Given the description of an element on the screen output the (x, y) to click on. 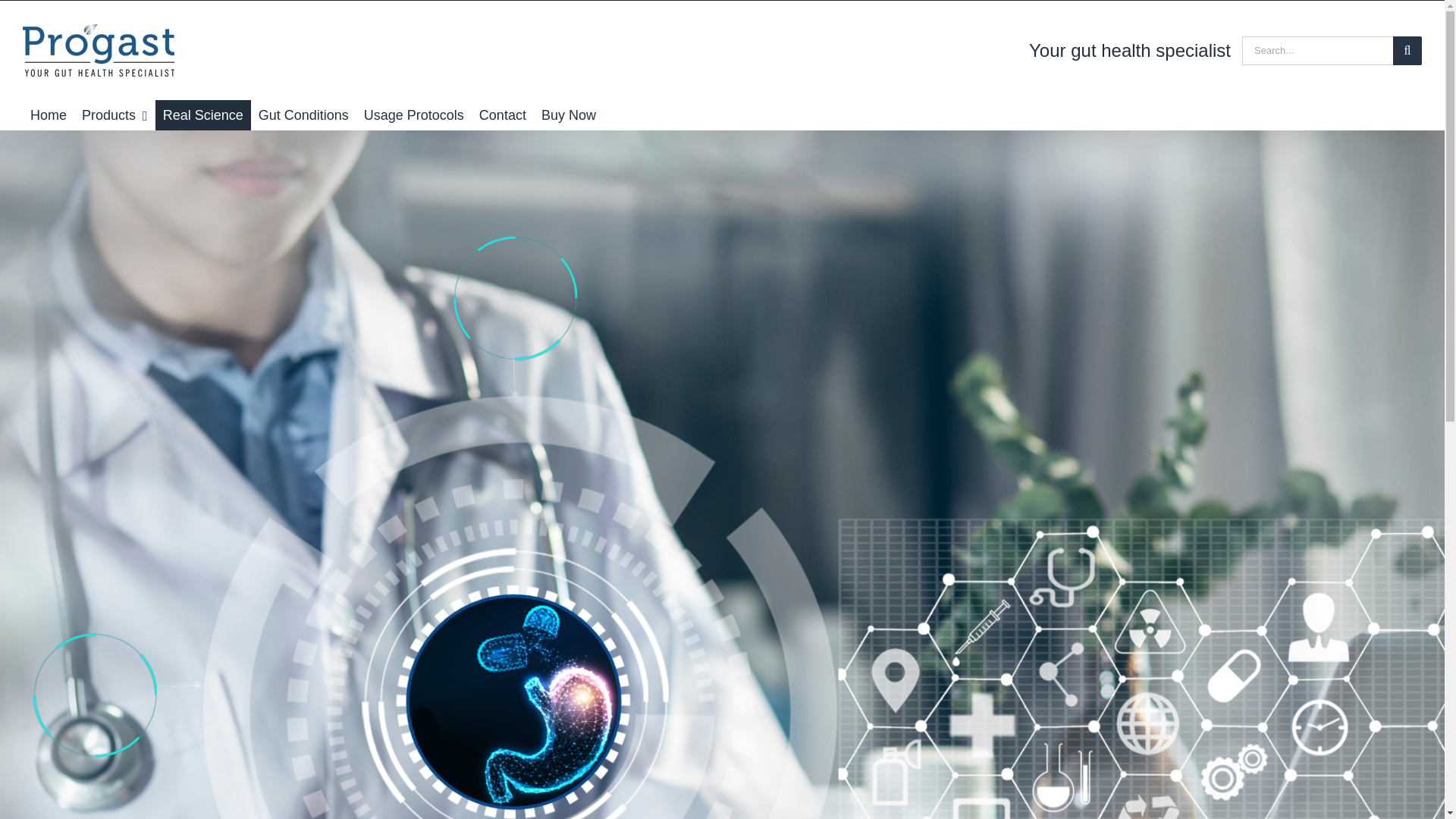
Products (114, 114)
Gut Conditions (303, 114)
Real Science (202, 114)
Home (48, 114)
Usage Protocols (413, 114)
